Given the description of an element on the screen output the (x, y) to click on. 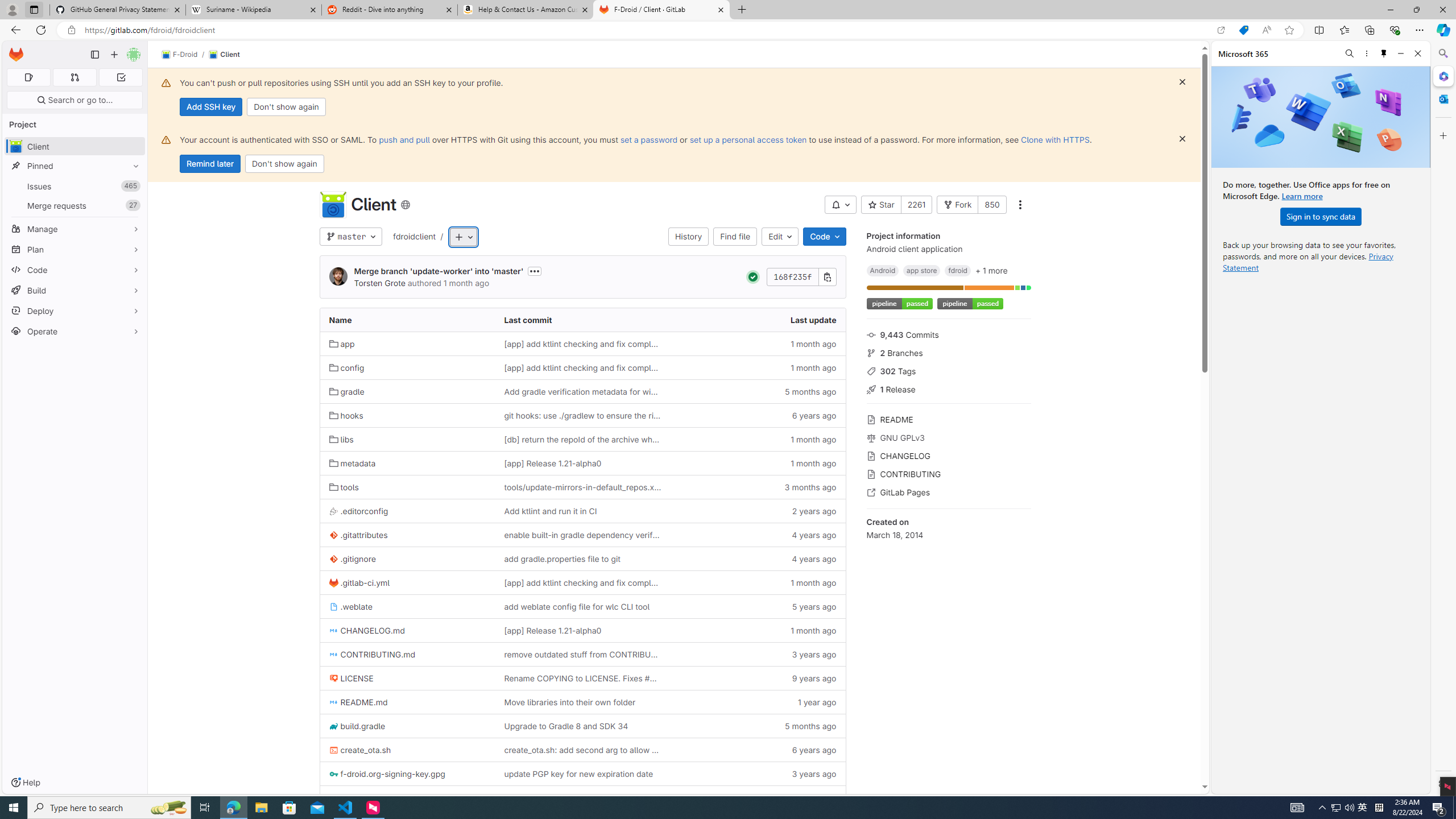
1 year ago (757, 797)
Code (74, 269)
Edit (780, 236)
GNU GPLv3 (948, 437)
Deploy (74, 310)
set a password (649, 139)
Class: s16 icon (405, 204)
Plan (74, 248)
Torsten Grote (379, 283)
set up a personal access token (747, 139)
CHANGELOG (948, 455)
add gradle.properties file to git (561, 558)
